Given the description of an element on the screen output the (x, y) to click on. 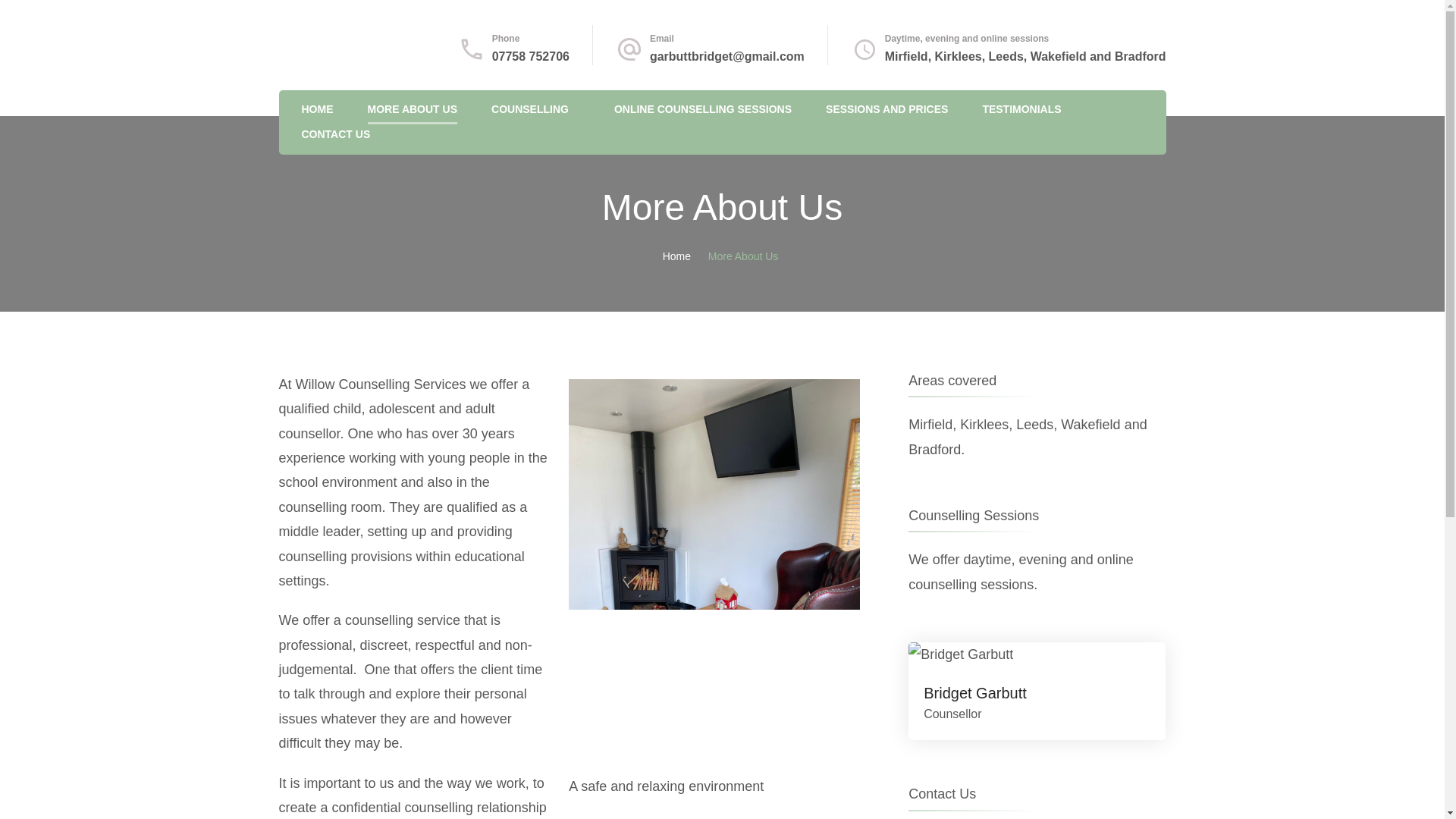
More About Us (742, 256)
Home (676, 256)
TESTIMONIALS (1021, 110)
COUNSELLING (530, 110)
MORE ABOUT US (412, 110)
Willow Counselling Services (420, 65)
07758 752706 (530, 56)
HOME (317, 110)
ONLINE COUNSELLING SESSIONS (703, 110)
SESSIONS AND PRICES (886, 110)
CONTACT US (336, 135)
